Given the description of an element on the screen output the (x, y) to click on. 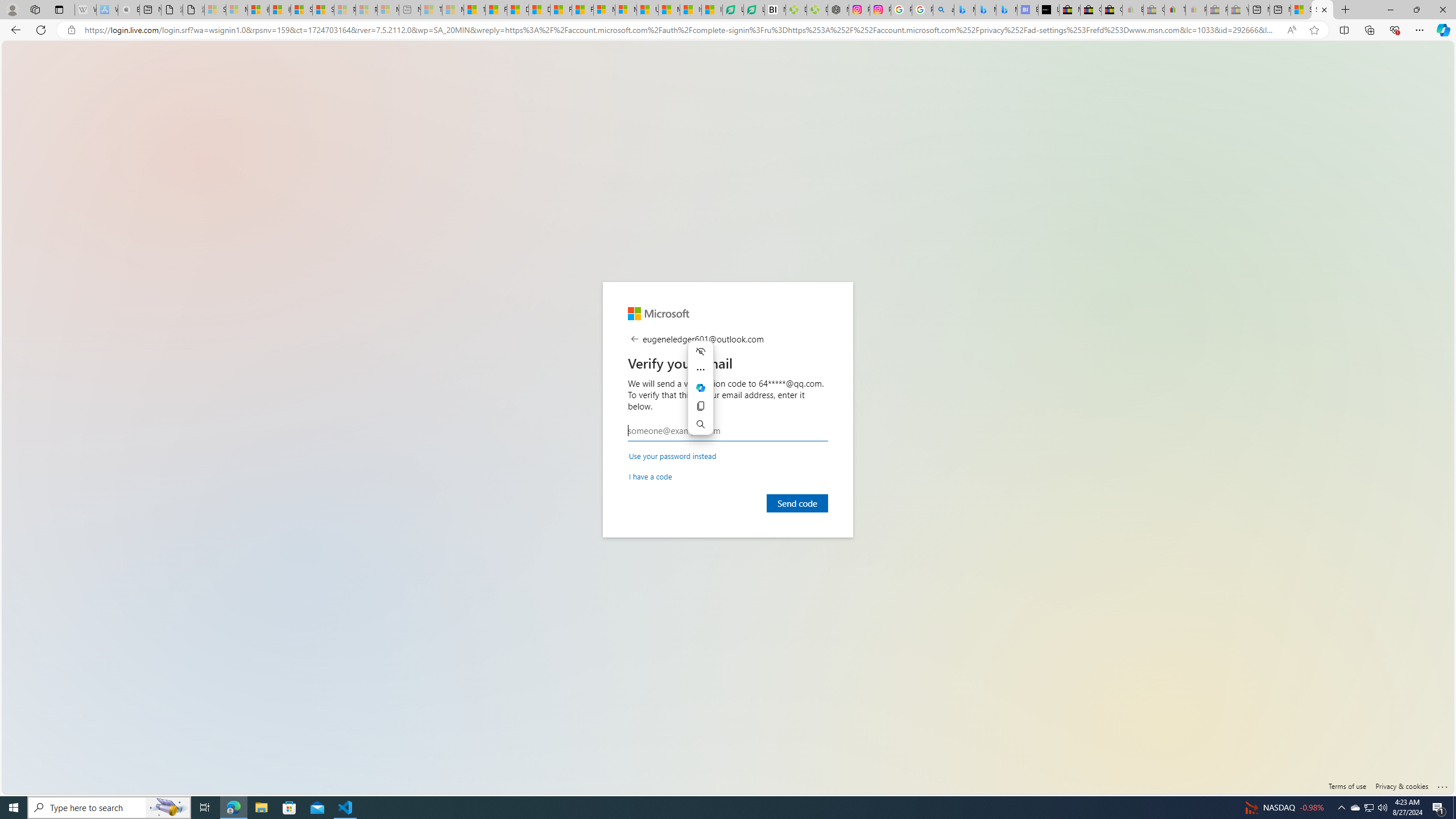
Marine life - MSN - Sleeping (452, 9)
alabama high school quarterback dies - Search (943, 9)
Food and Drink - MSN (496, 9)
Threats and offensive language policy | eBay (1174, 9)
Yard, Garden & Outdoor Living - Sleeping (1238, 9)
Drinking tea every day is proven to delay biological aging (539, 9)
Sign in to your Microsoft account - Sleeping (215, 9)
